Given the description of an element on the screen output the (x, y) to click on. 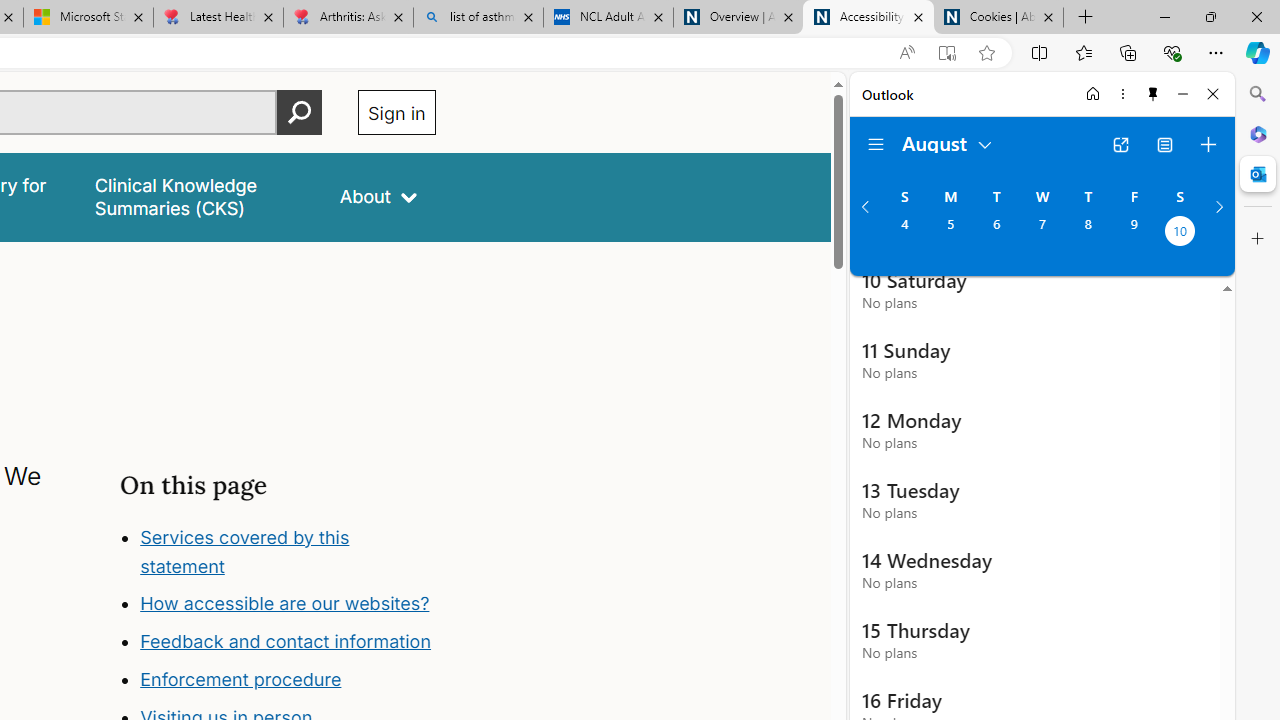
Open in new tab (1120, 144)
Saturday, August 10, 2024. Date selected.  (1180, 233)
Friday, August 9, 2024.  (1134, 233)
Feedback and contact information (285, 641)
Enforcement procedure (240, 679)
